Given the description of an element on the screen output the (x, y) to click on. 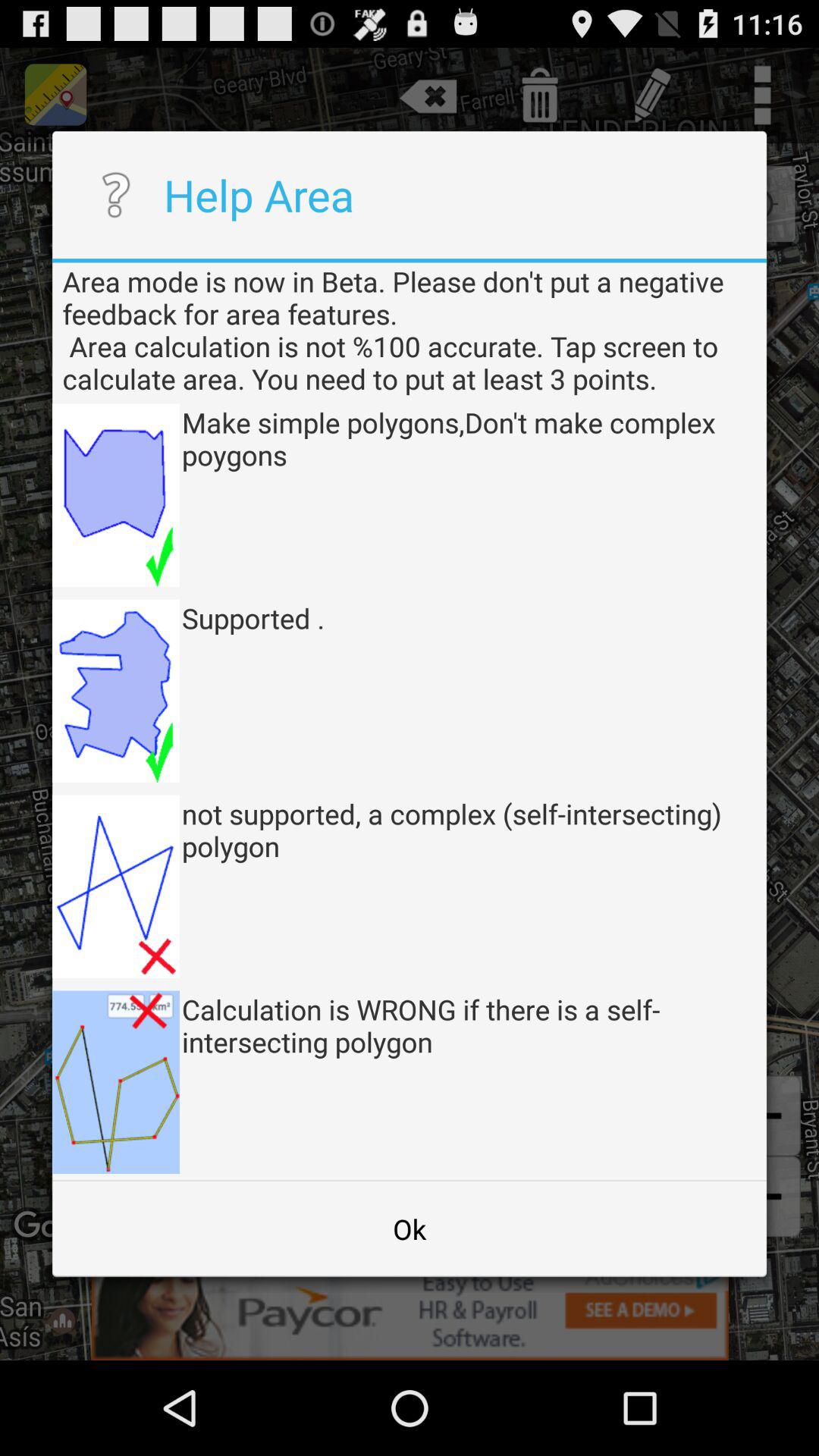
turn on the ok (409, 1228)
